Given the description of an element on the screen output the (x, y) to click on. 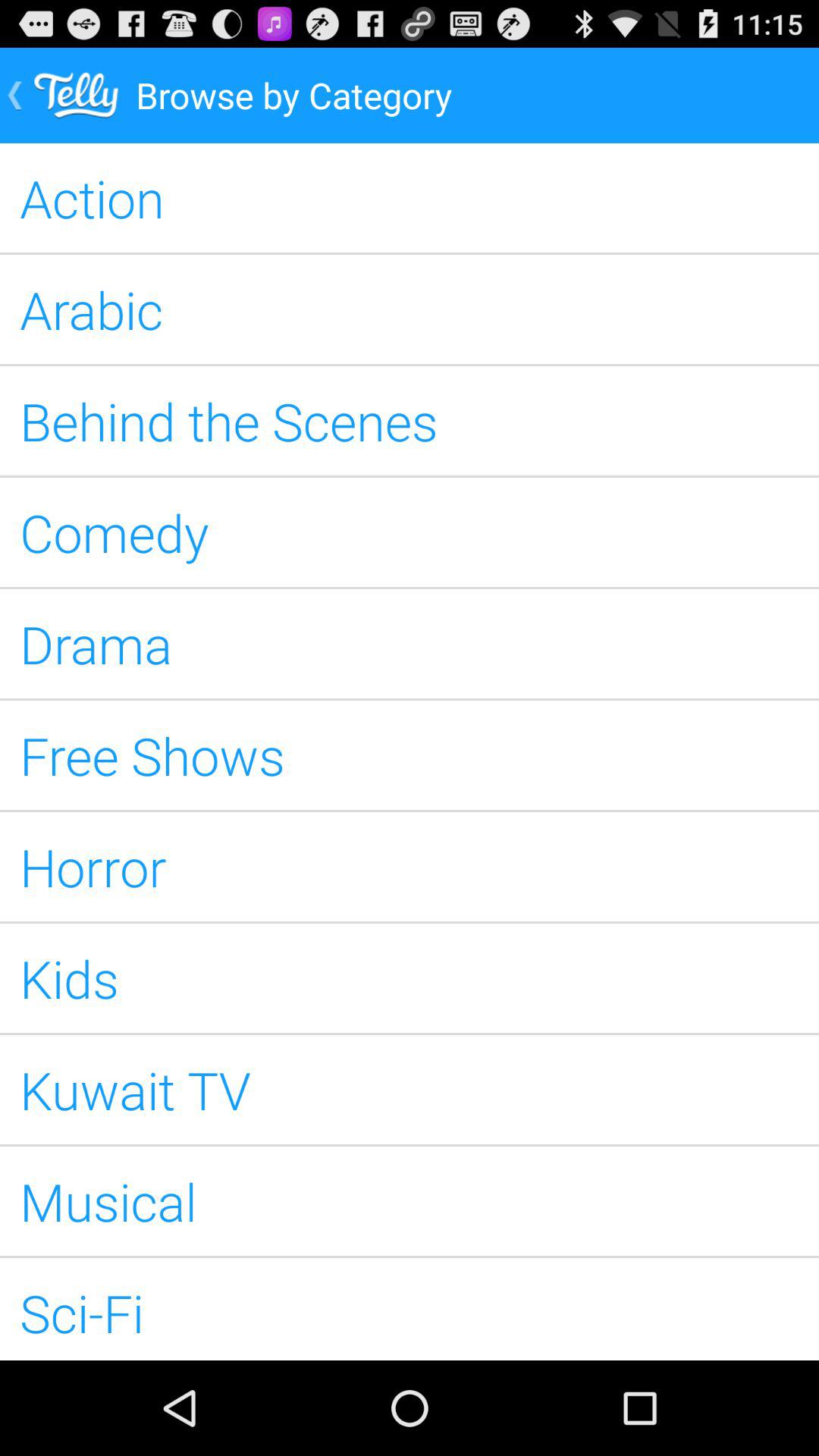
launch the item above comedy item (409, 420)
